Given the description of an element on the screen output the (x, y) to click on. 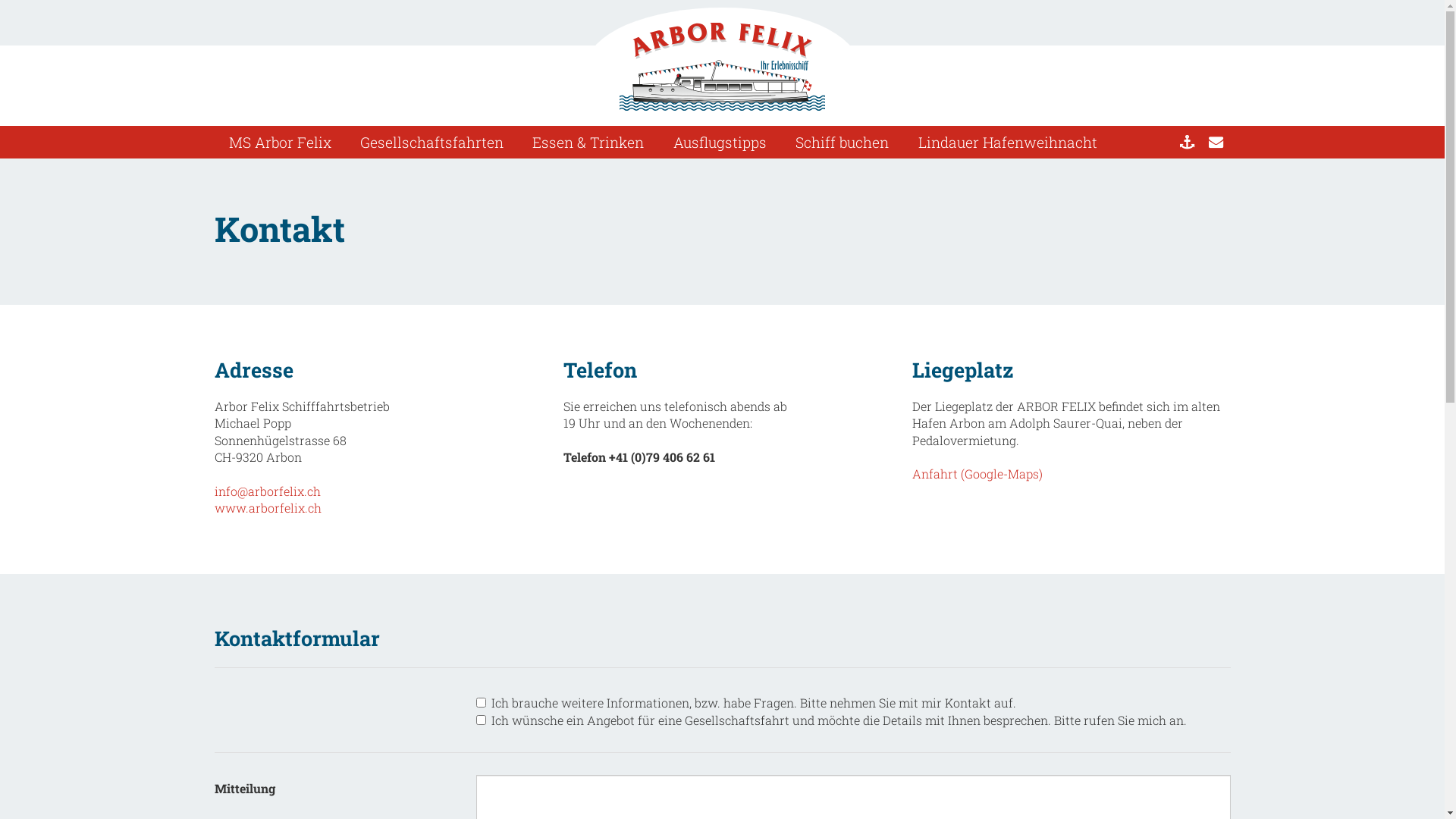
Anfahrt (Google-Maps) Element type: text (976, 473)
Gesellschaftsfahrten Element type: text (431, 141)
info@arborfelix.ch Element type: text (266, 490)
Ausflugstipps Element type: text (719, 141)
Kontakt Element type: hover (1215, 141)
Lindauer Hafenweihnacht Element type: text (1006, 141)
Essen & Trinken Element type: text (587, 141)
Startseite Element type: hover (1186, 141)
MS Arbor Felix Element type: text (279, 141)
Schiff buchen Element type: text (842, 141)
www.arborfelix.ch Element type: text (266, 507)
